Given the description of an element on the screen output the (x, y) to click on. 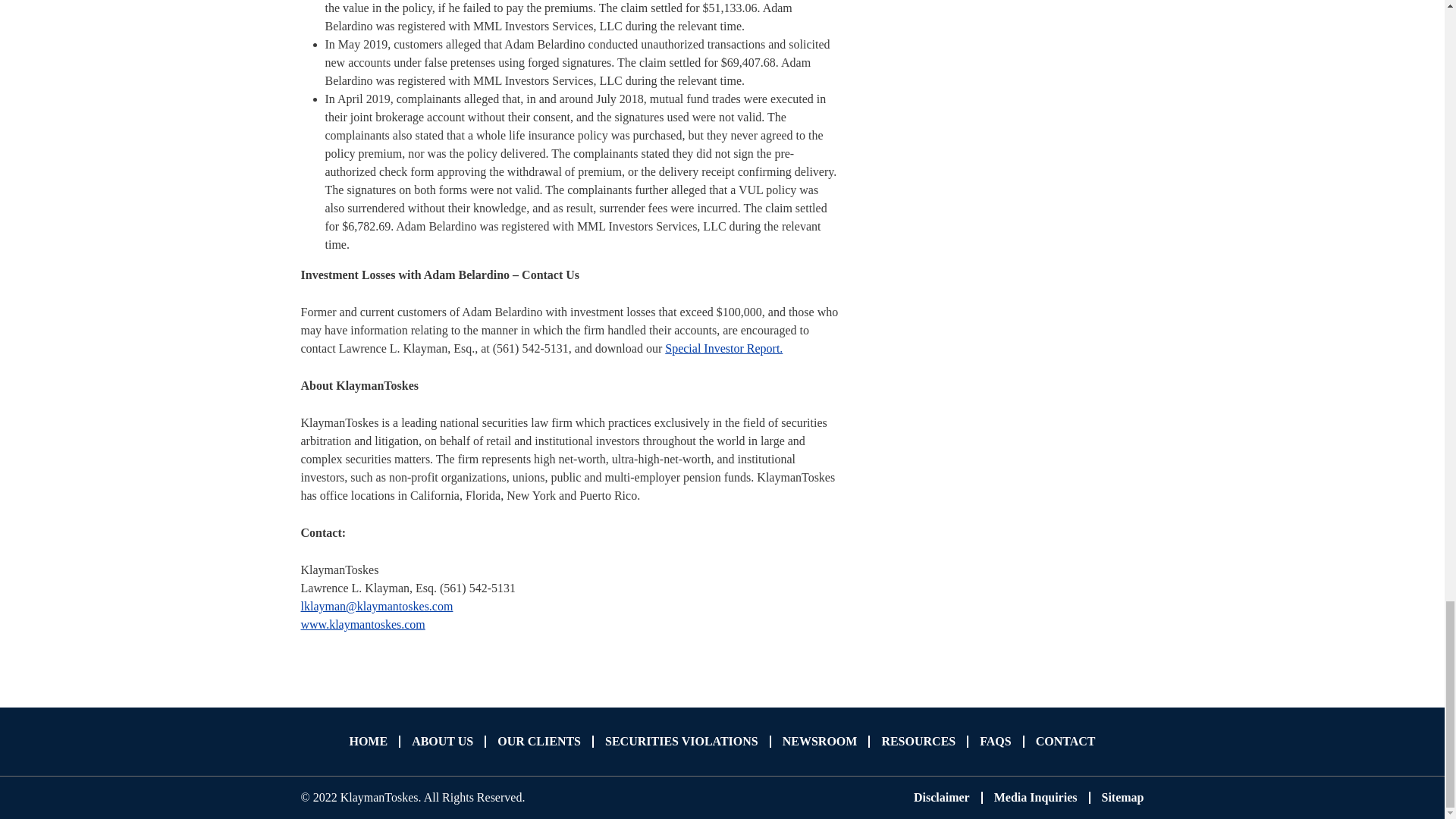
www.klaymantoskes.com (362, 624)
Special Investor Report. (724, 348)
